Given the description of an element on the screen output the (x, y) to click on. 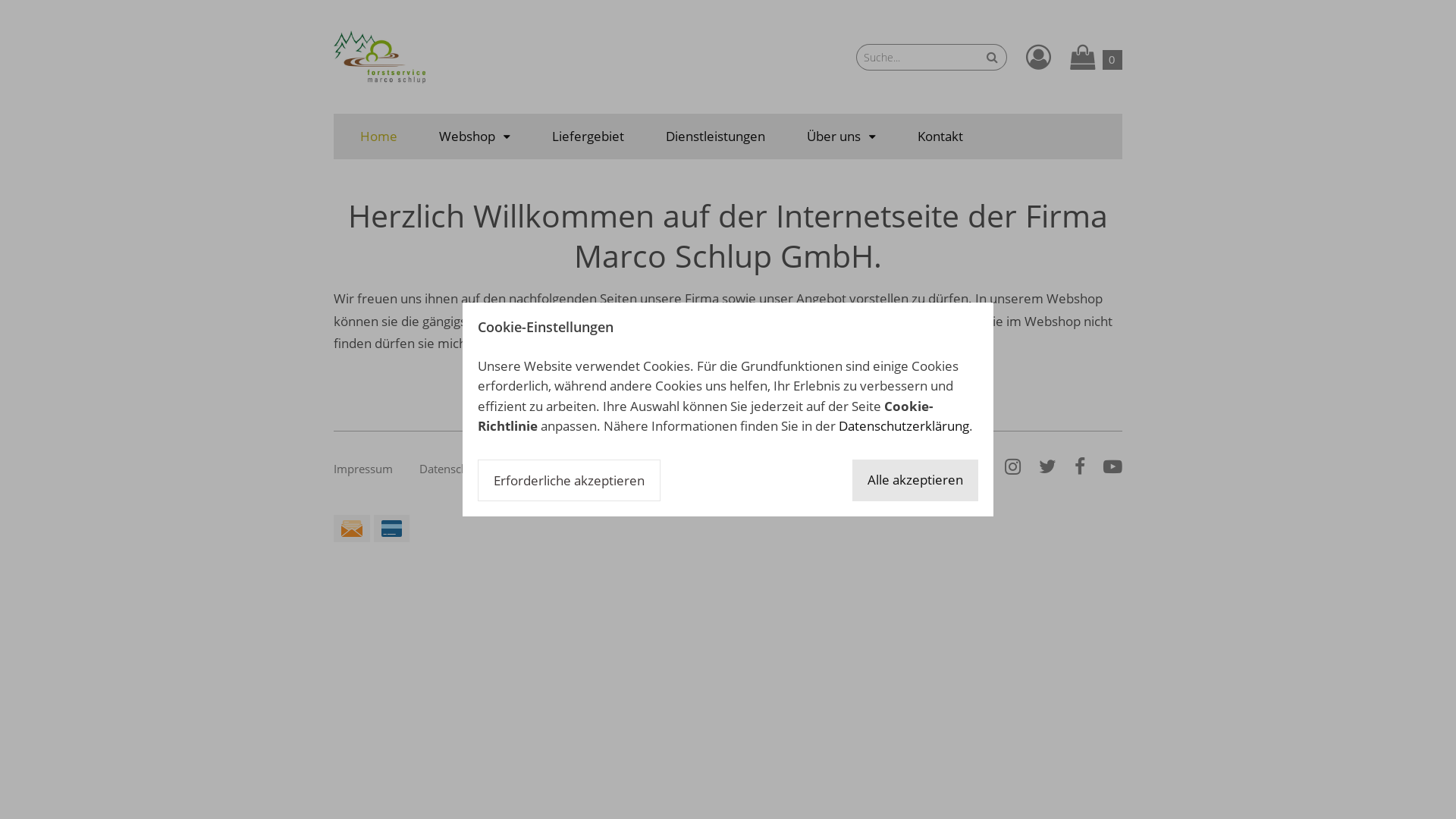
Alle akzeptieren Element type: text (915, 480)
Rechnung Element type: hover (351, 528)
Warenkorb anzeigen. Sie haben 0 Artikel im Warenkorb.
0 Element type: text (1096, 56)
Suche Element type: text (991, 56)
Home Element type: text (378, 135)
Impressum Element type: text (362, 468)
Zahlung & Versand Element type: text (723, 468)
Dienstleistungen Element type: text (715, 135)
Cookie-Richtlinie Element type: text (603, 468)
Widerrufsrecht Element type: text (839, 468)
Webshop Element type: text (474, 135)
Erforderliche akzeptieren Element type: text (568, 480)
Marco Schlup GmbH Element type: hover (379, 56)
Kontakt Element type: text (940, 135)
Vorkasse Element type: hover (390, 528)
Liefergebiet Element type: text (588, 135)
